Given the description of an element on the screen output the (x, y) to click on. 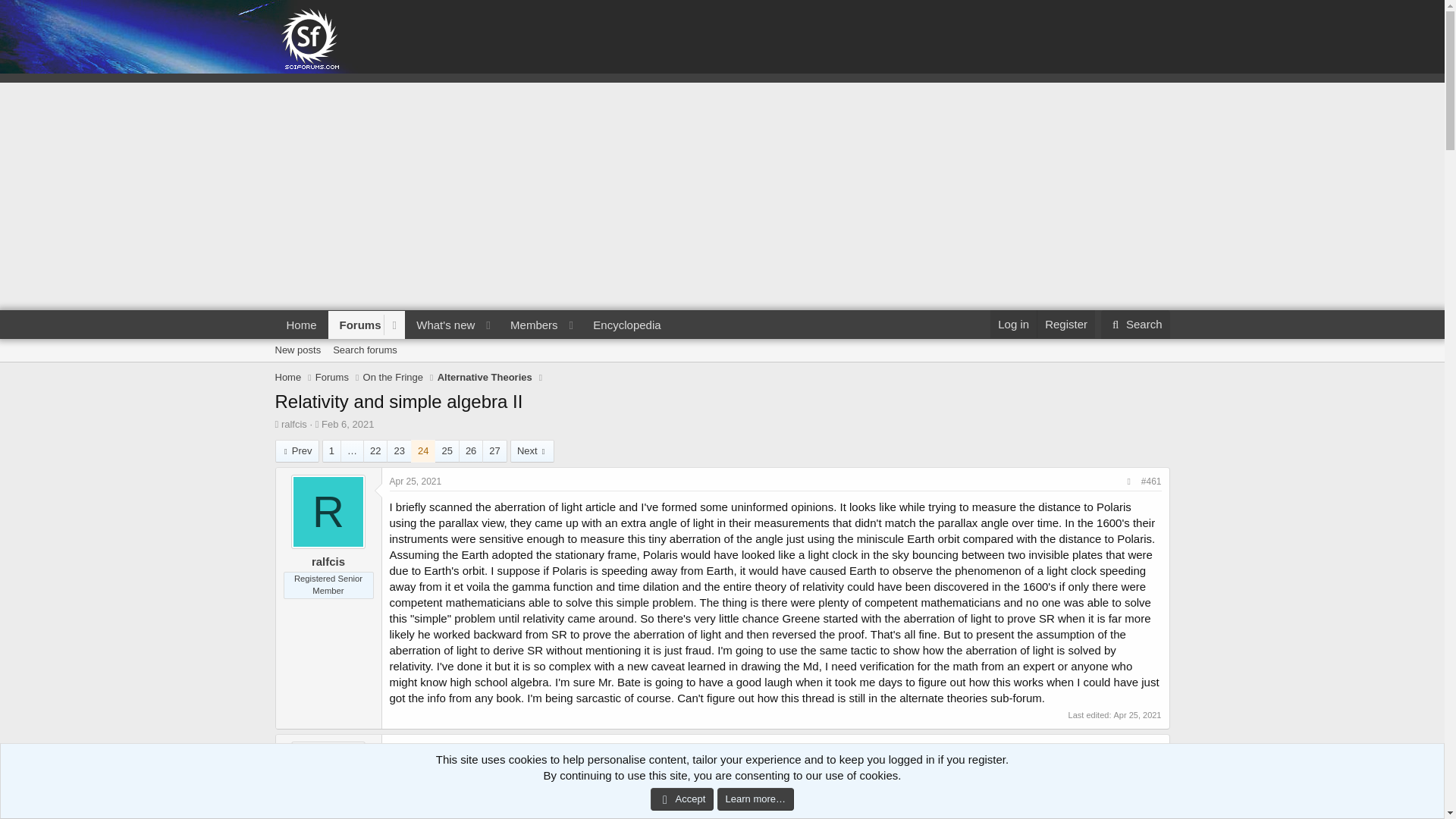
Search (1135, 324)
Forums (472, 325)
Apr 25, 2021 at 11:52 PM (332, 377)
Prev (416, 747)
ralfcis (296, 450)
Forums (294, 423)
On the Fringe (356, 325)
Start date (392, 377)
Feb 6, 2021 (364, 350)
Encyclopedia (720, 367)
Register (347, 423)
Apr 25, 2021 at 3:07 PM (625, 325)
